Given the description of an element on the screen output the (x, y) to click on. 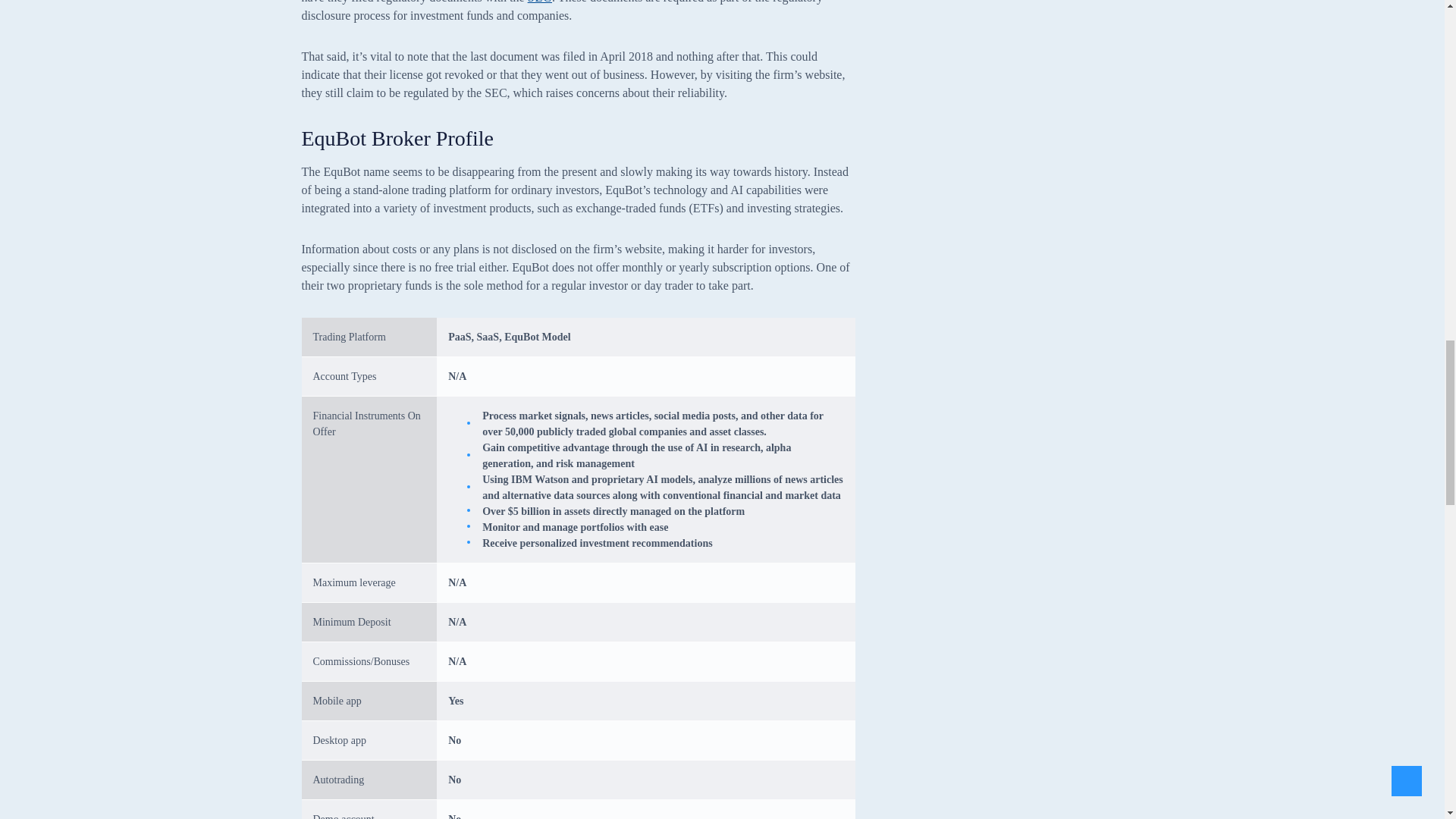
SEC (539, 2)
